Given the description of an element on the screen output the (x, y) to click on. 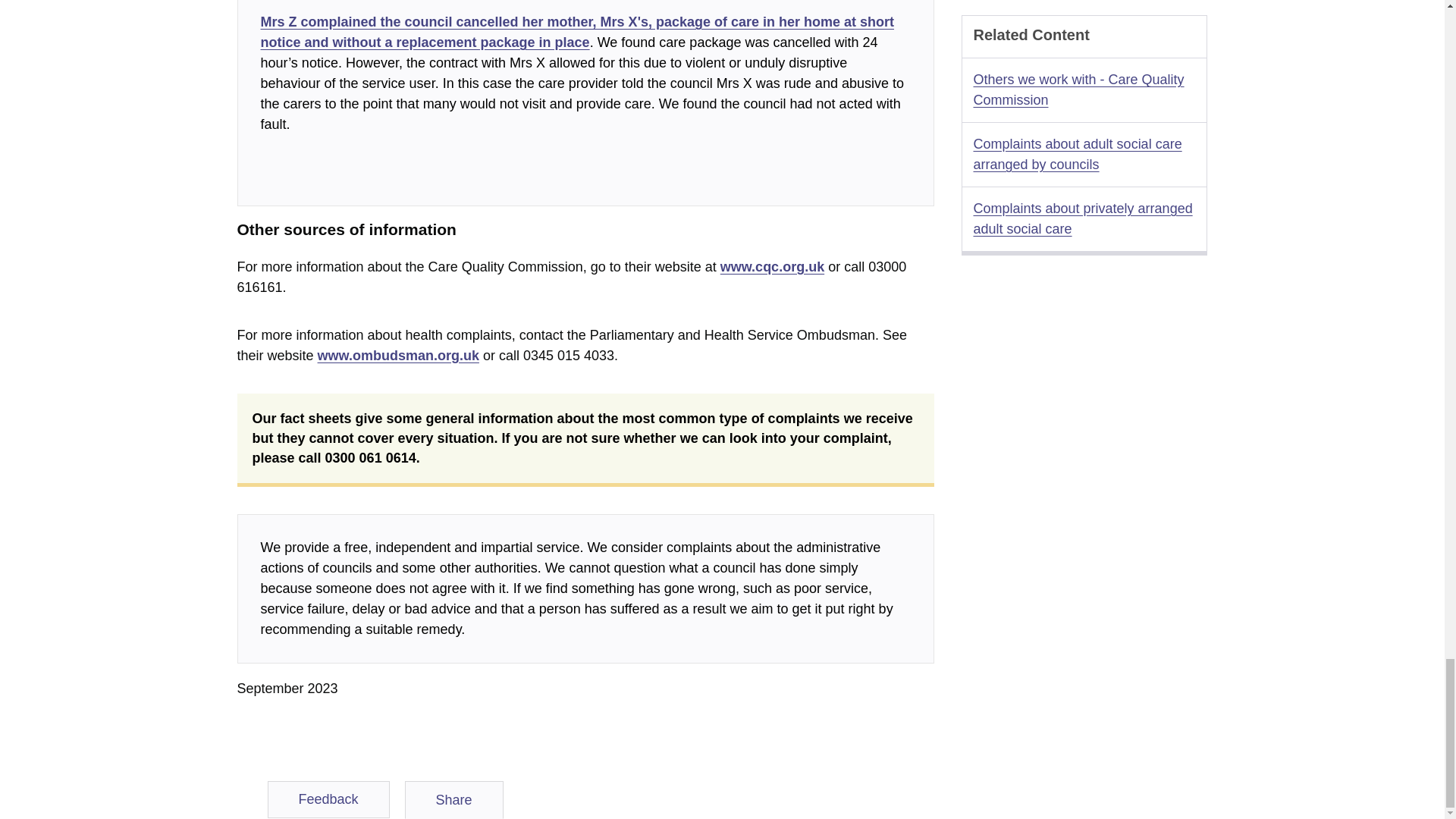
www.cqc.org.uk (772, 266)
Feedback (327, 799)
Share (453, 800)
www.ombudsman.org.uk (398, 355)
